Given the description of an element on the screen output the (x, y) to click on. 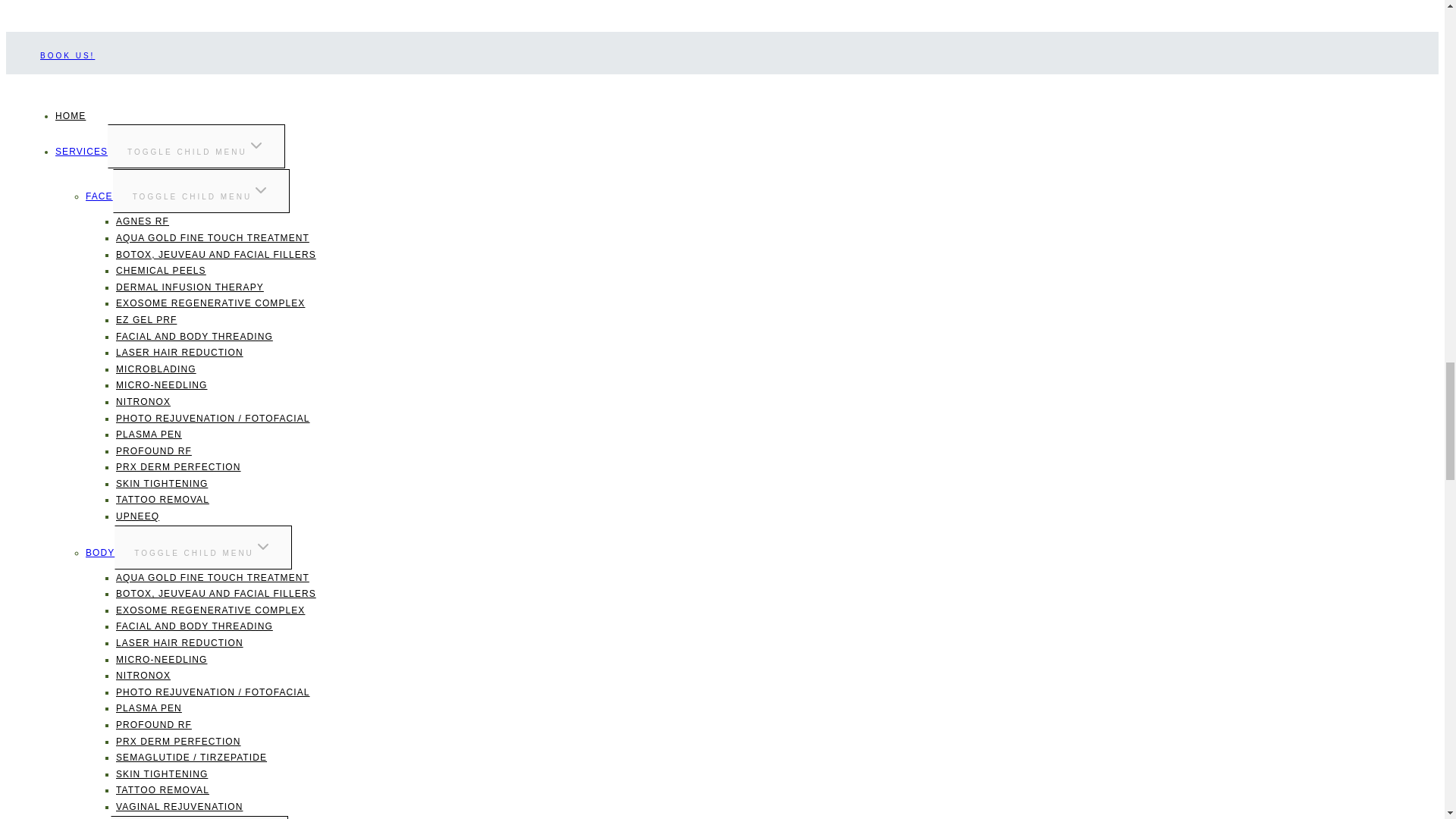
EXPAND (262, 546)
EXPAND (255, 145)
EXPAND (260, 189)
